Given the description of an element on the screen output the (x, y) to click on. 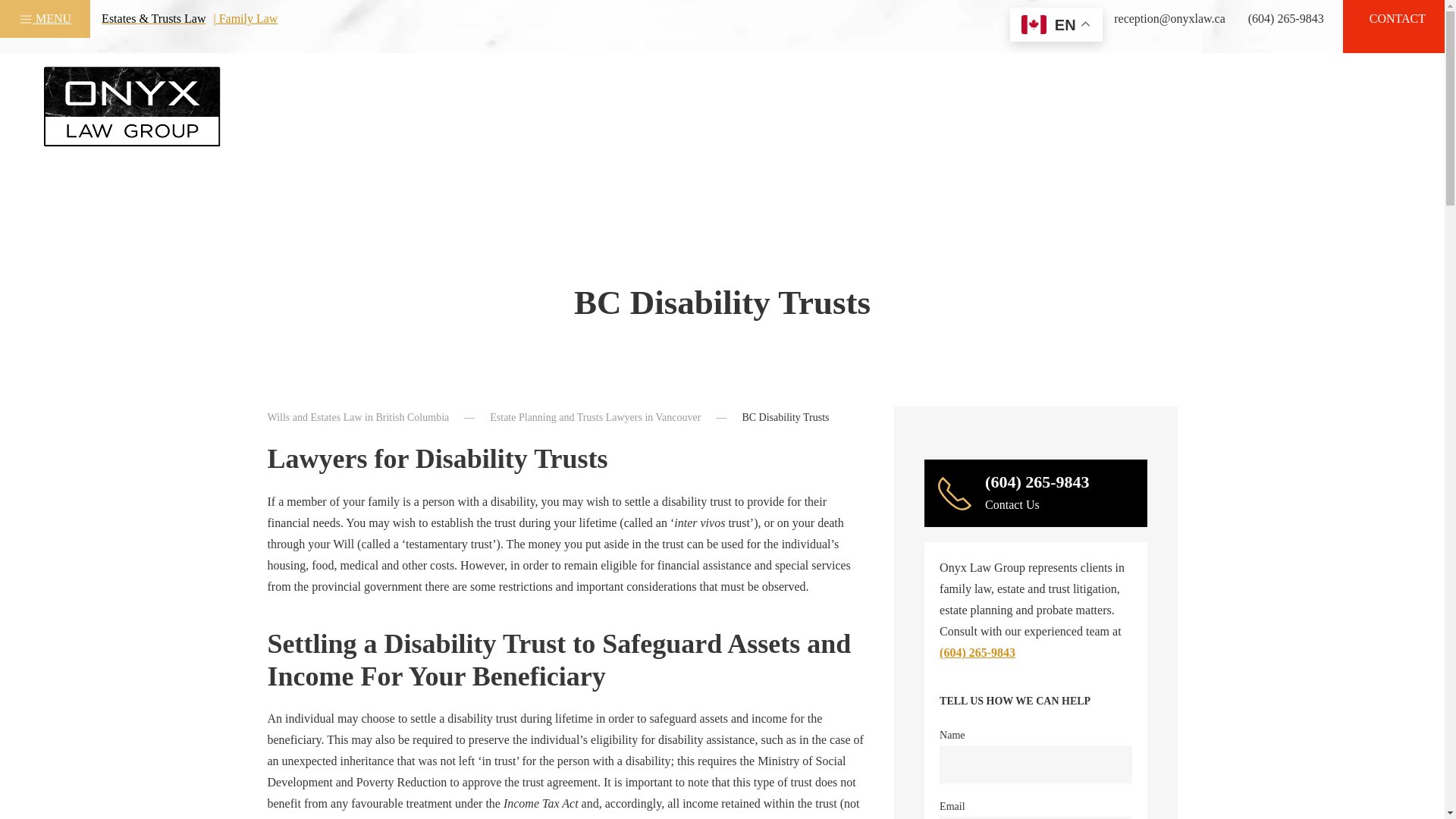
CONTACT (1397, 18)
Estate Planning and Trusts Lawyers in Vancouver (594, 417)
Wills and Estates Law in British Columbia (357, 417)
MENU (44, 18)
